Given the description of an element on the screen output the (x, y) to click on. 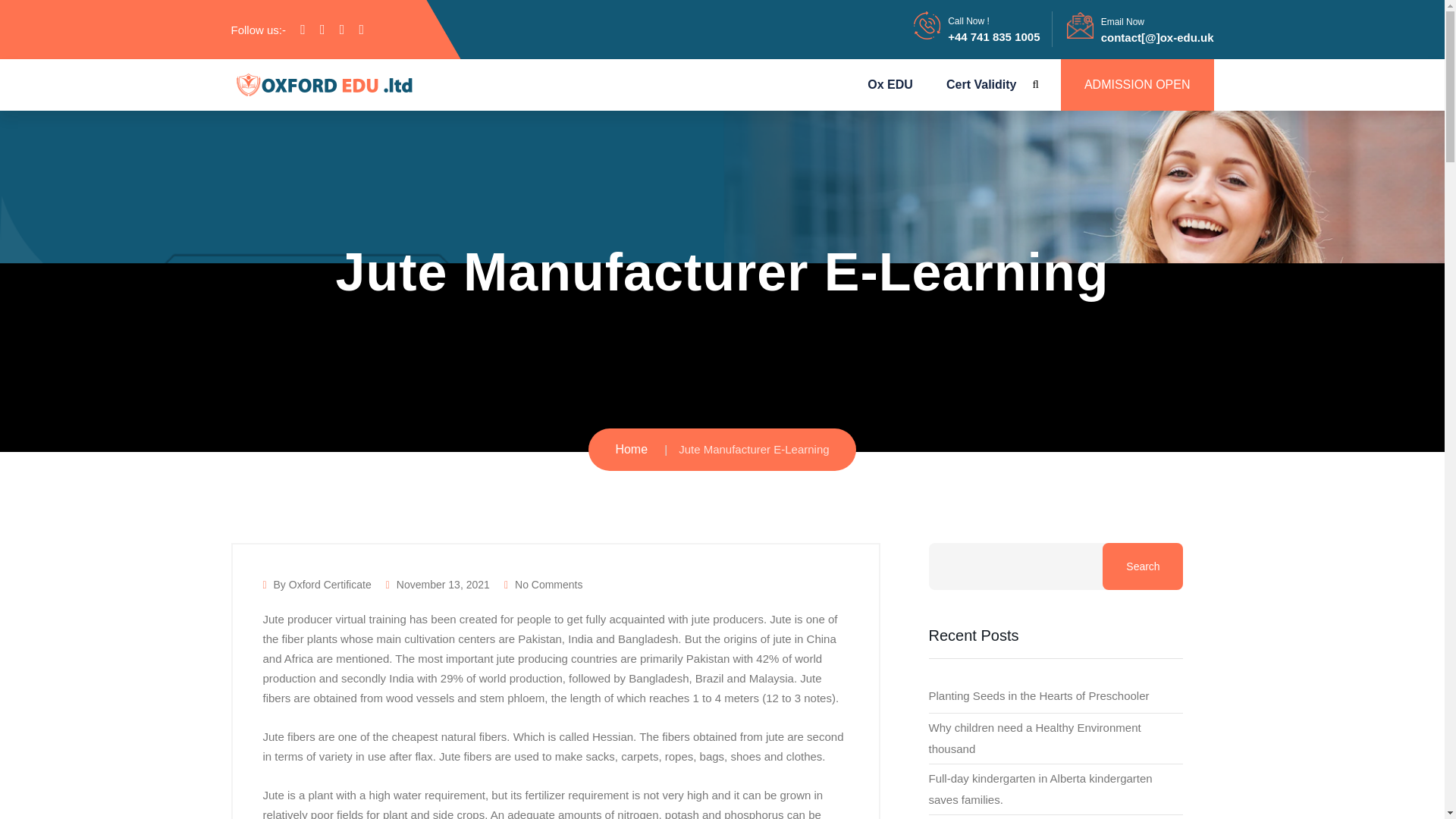
Home (630, 449)
ADMISSION OPEN (1137, 84)
Ox EDU (889, 84)
Cert Validity (981, 84)
